Given the description of an element on the screen output the (x, y) to click on. 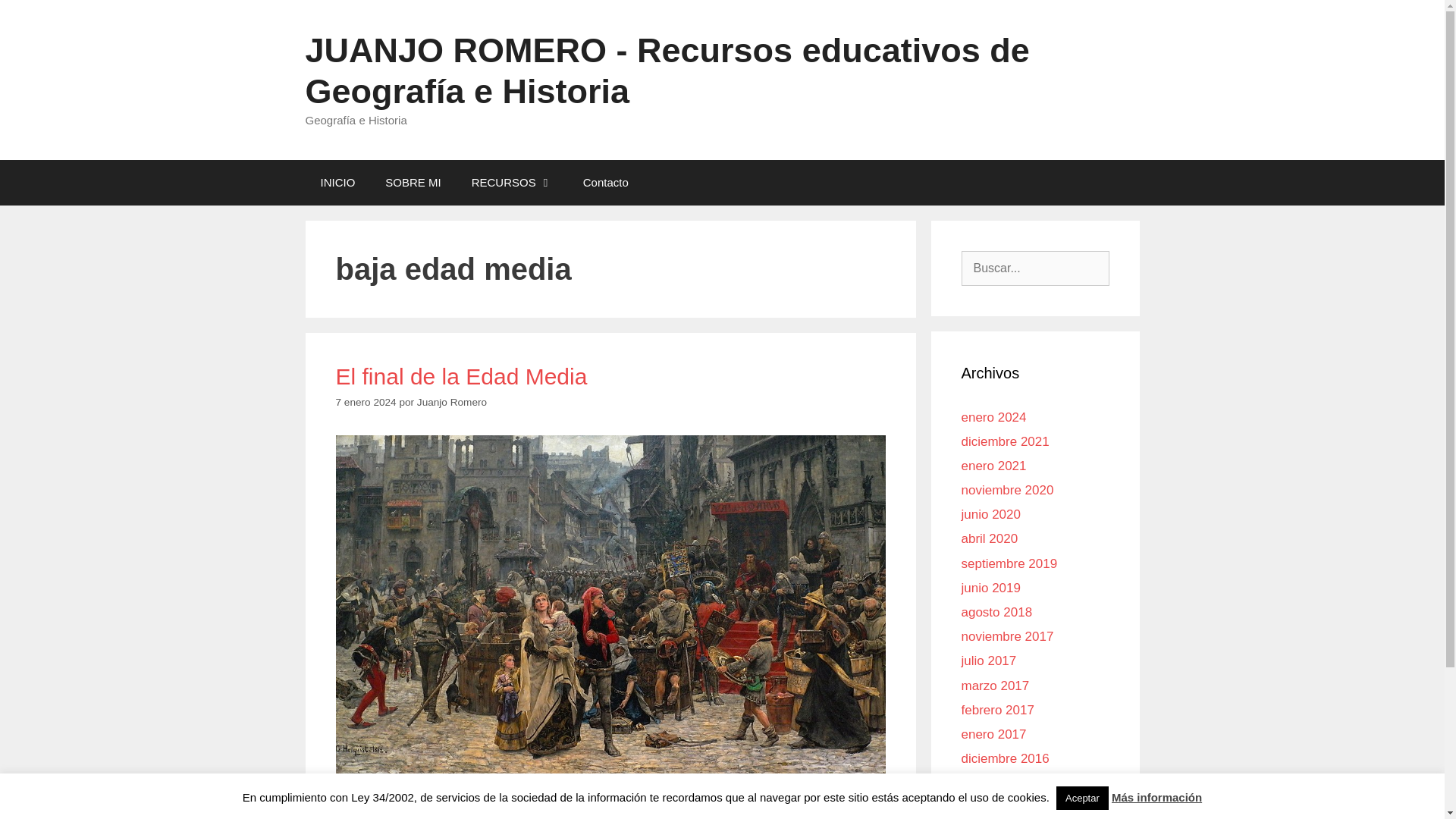
agosto 2018 (996, 612)
Ver todas las entradas de Juanjo Romero (451, 401)
septiembre 2019 (1009, 563)
noviembre 2020 (1007, 490)
Contacto (605, 181)
enero 2021 (993, 465)
enero 2024 (993, 416)
Buscar: (1034, 267)
noviembre 2017 (1007, 636)
RECURSOS (512, 181)
INICIO (336, 181)
junio 2020 (990, 513)
Buscar (34, 17)
abril 2020 (988, 538)
Juanjo Romero (451, 401)
